Given the description of an element on the screen output the (x, y) to click on. 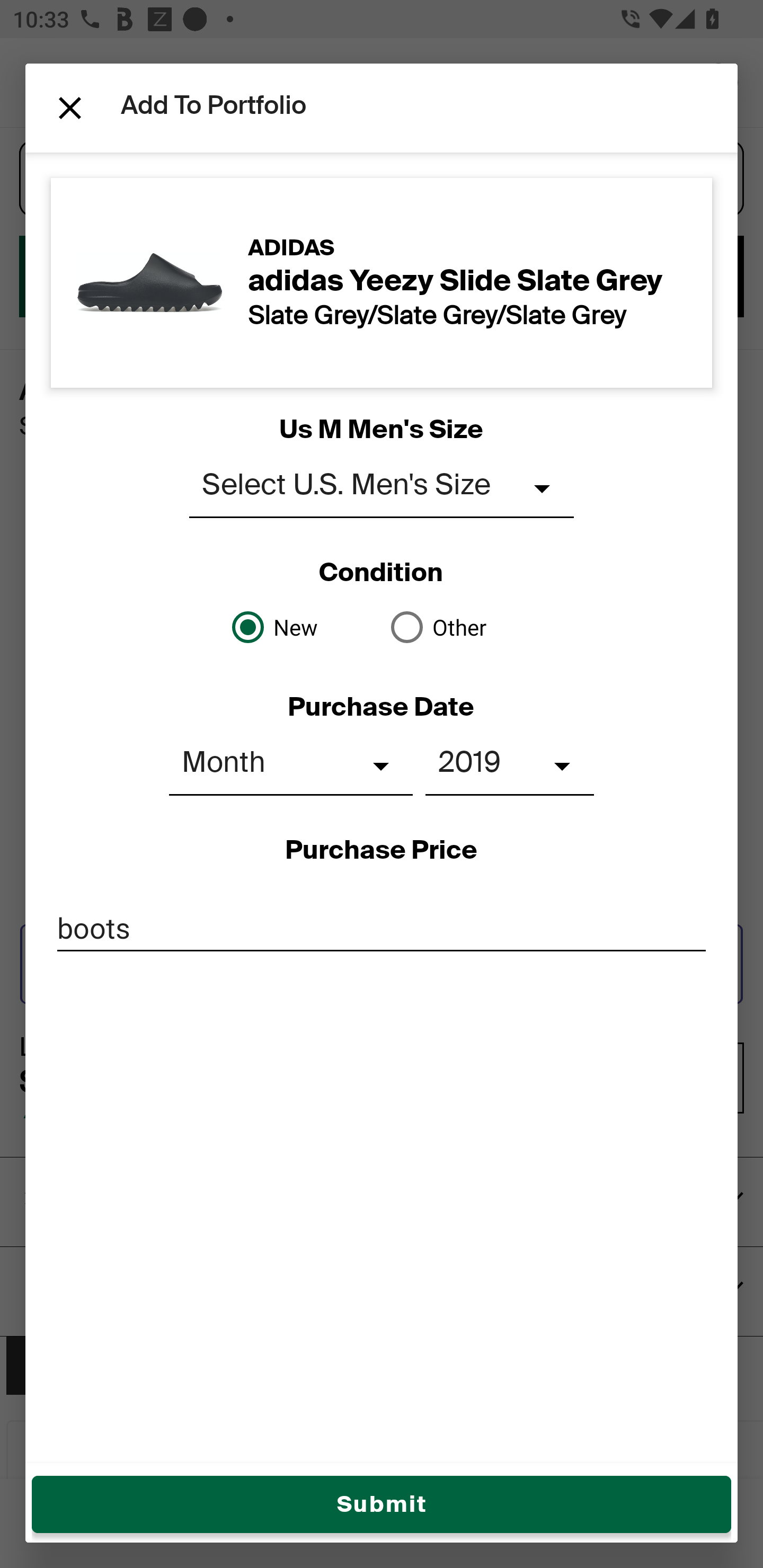
Select U.S. Men's Size (381, 488)
New (301, 626)
Other (460, 626)
Month (290, 765)
2019 (509, 765)
boots (381, 928)
Submit (381, 1504)
